Given the description of an element on the screen output the (x, y) to click on. 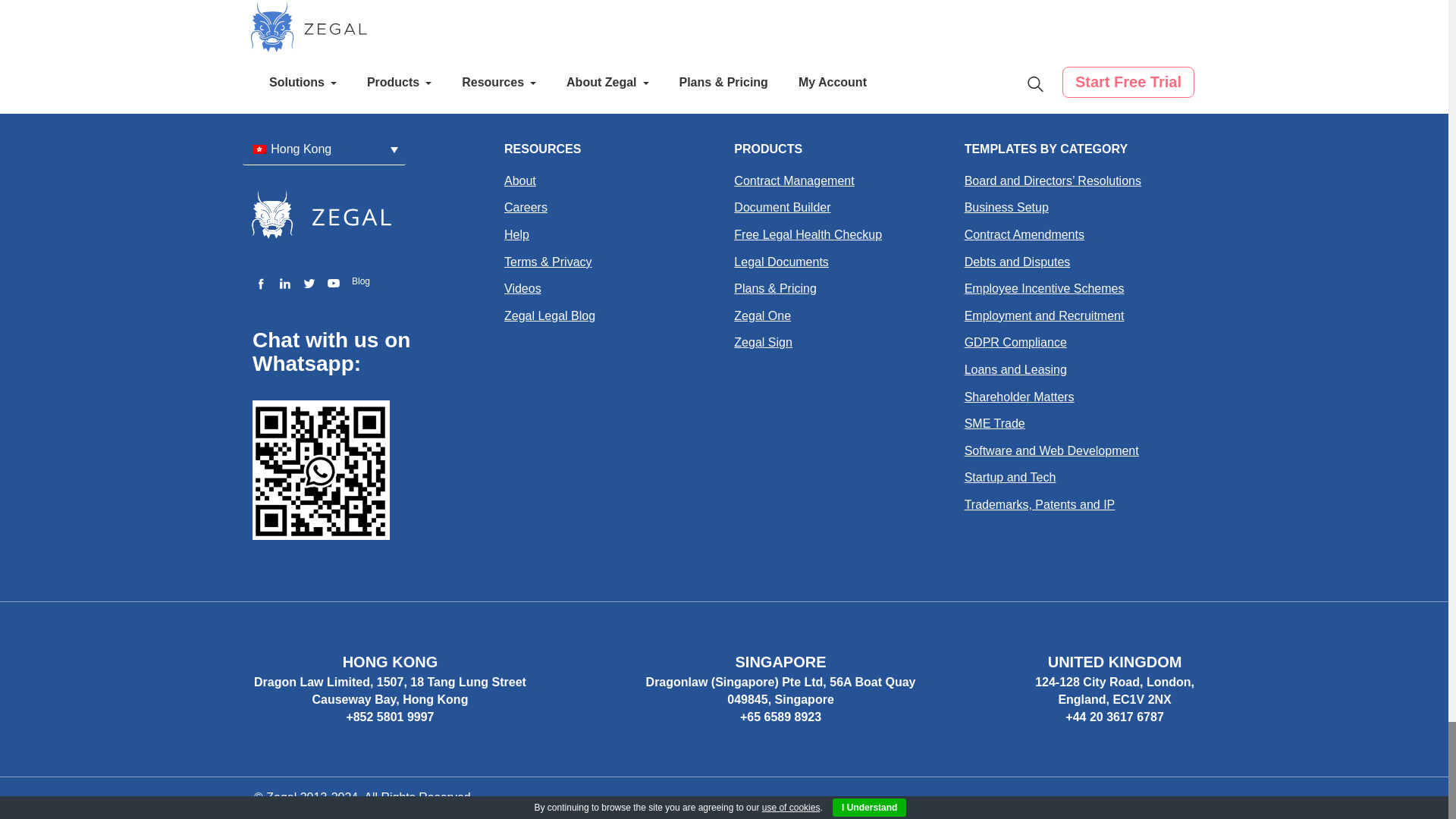
Subscribe (592, 16)
Whats App QR (320, 469)
pana (1015, 18)
